Given the description of an element on the screen output the (x, y) to click on. 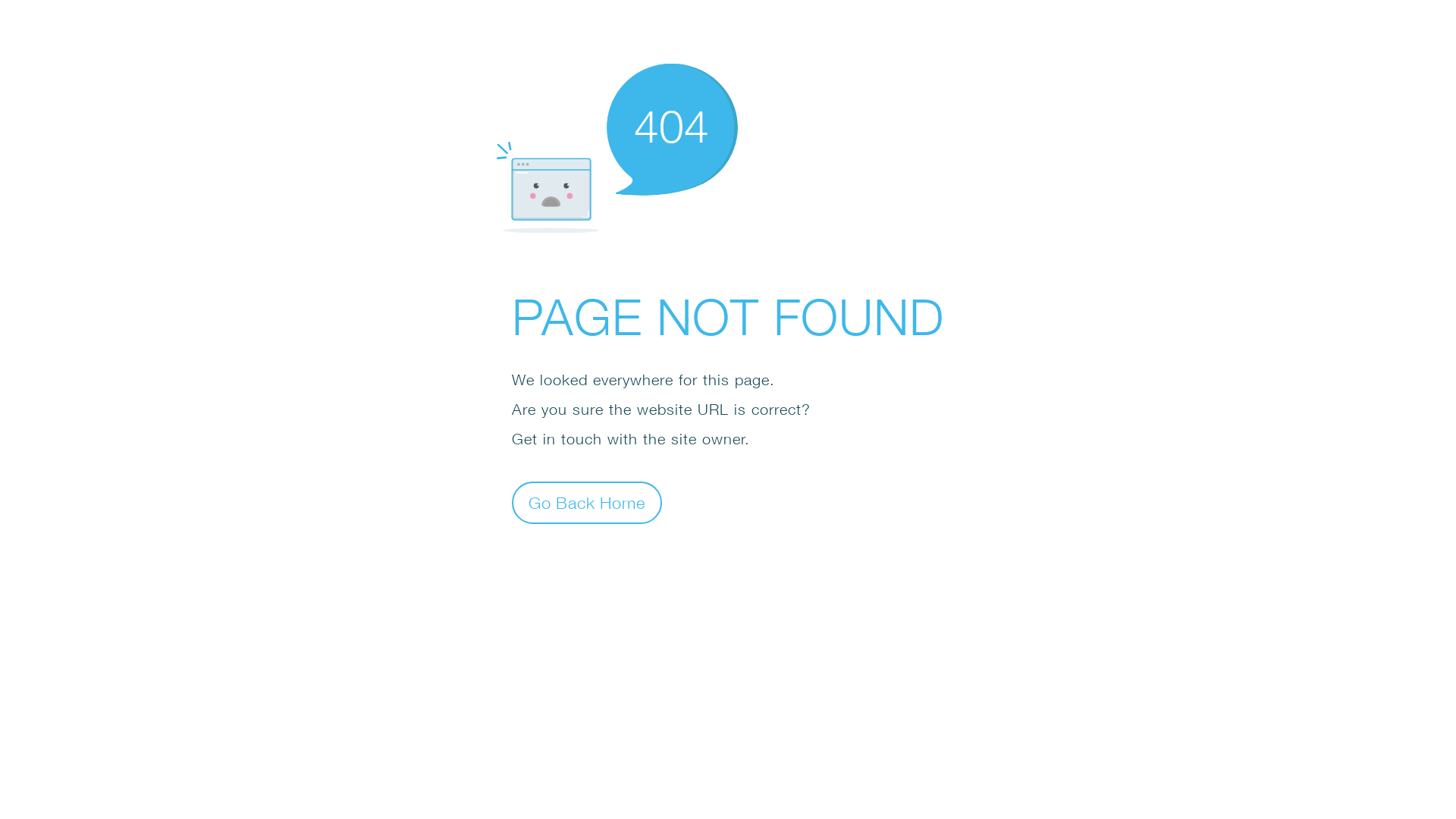
Go Back Home Element type: text (586, 502)
